Given the description of an element on the screen output the (x, y) to click on. 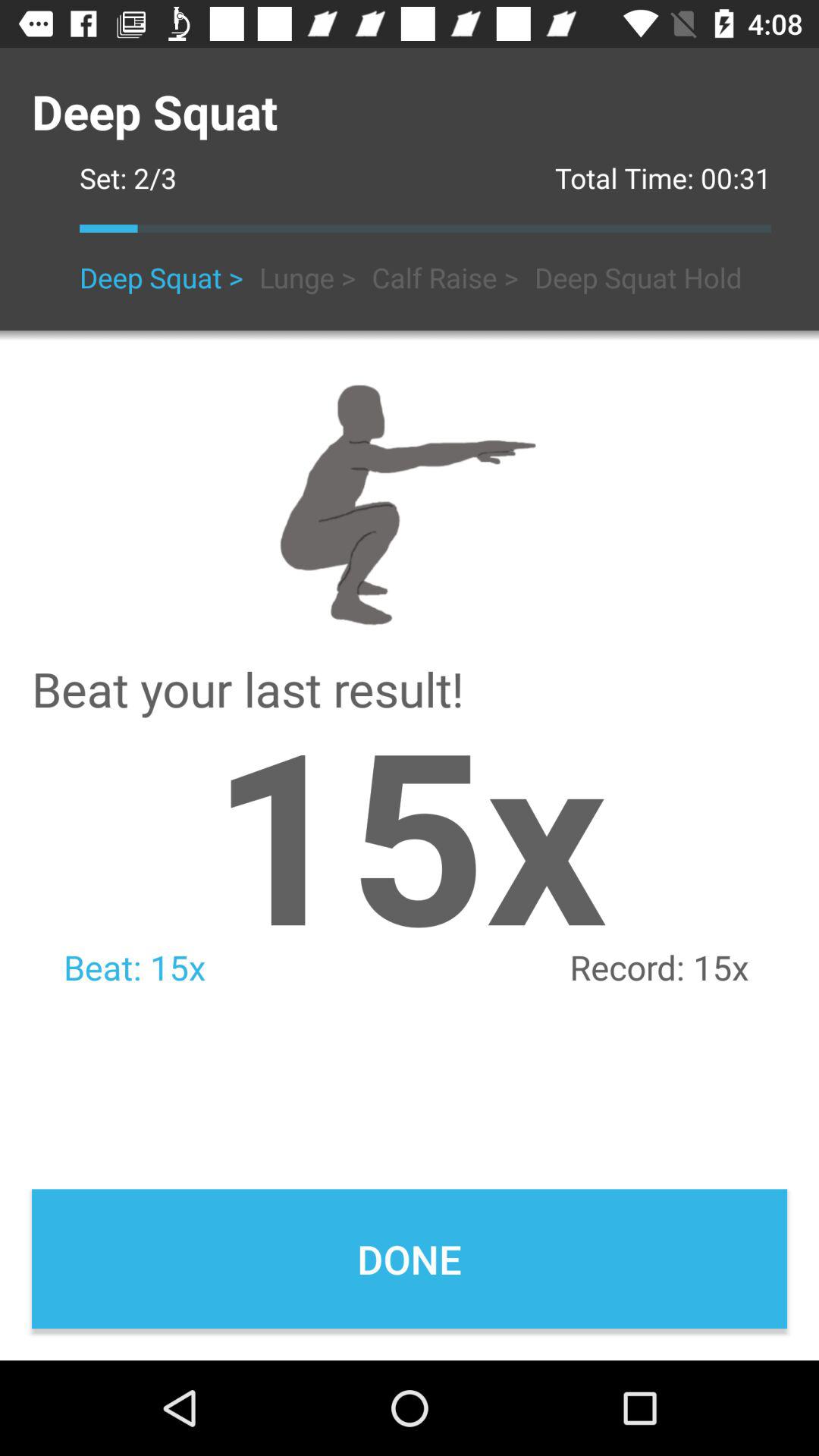
flip until done item (409, 1258)
